Given the description of an element on the screen output the (x, y) to click on. 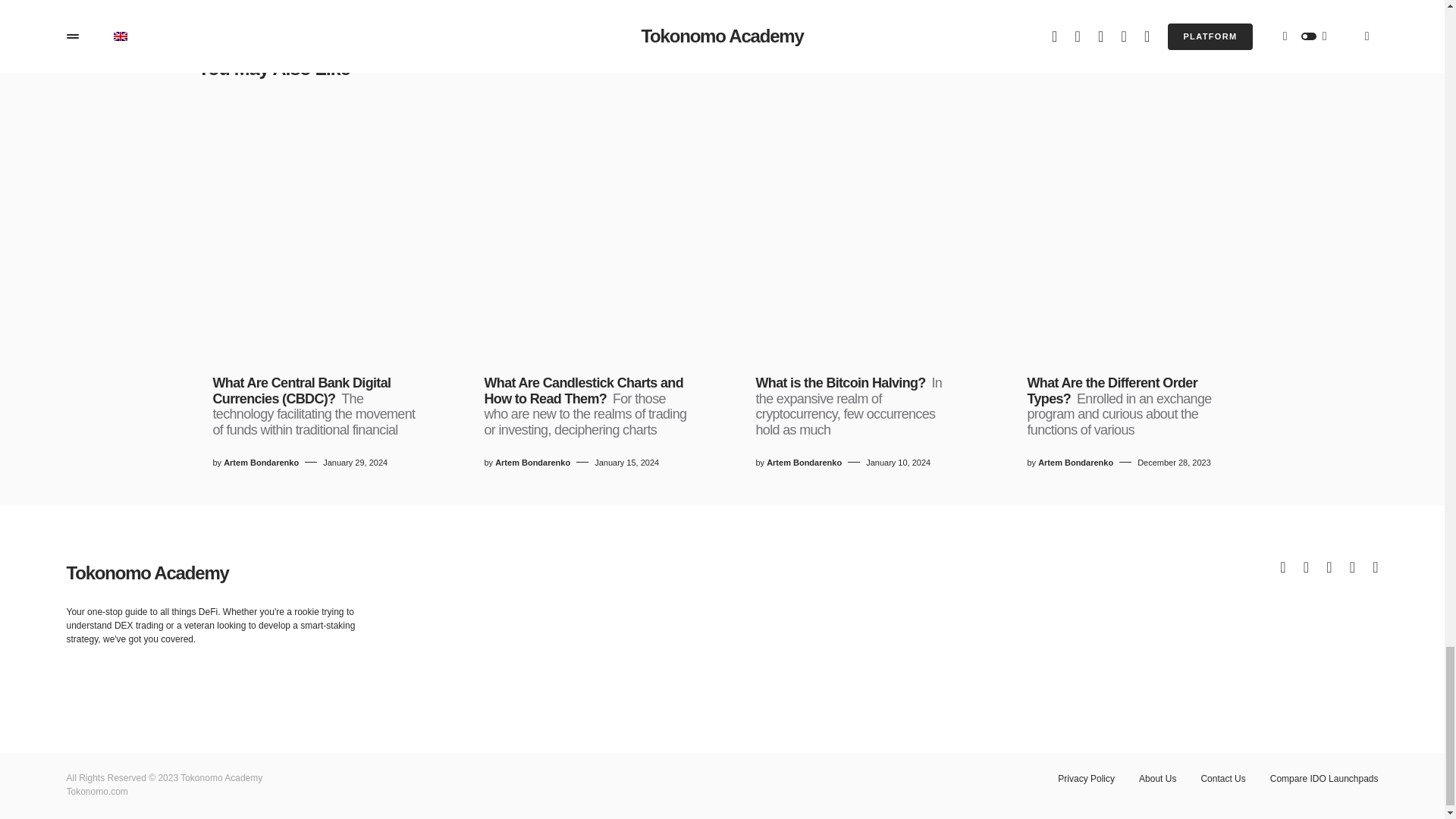
View all posts by Artem Bondarenko (804, 462)
View all posts by Artem Bondarenko (532, 462)
View all posts by Artem Bondarenko (261, 462)
View all posts by Artem Bondarenko (1075, 462)
